Given the description of an element on the screen output the (x, y) to click on. 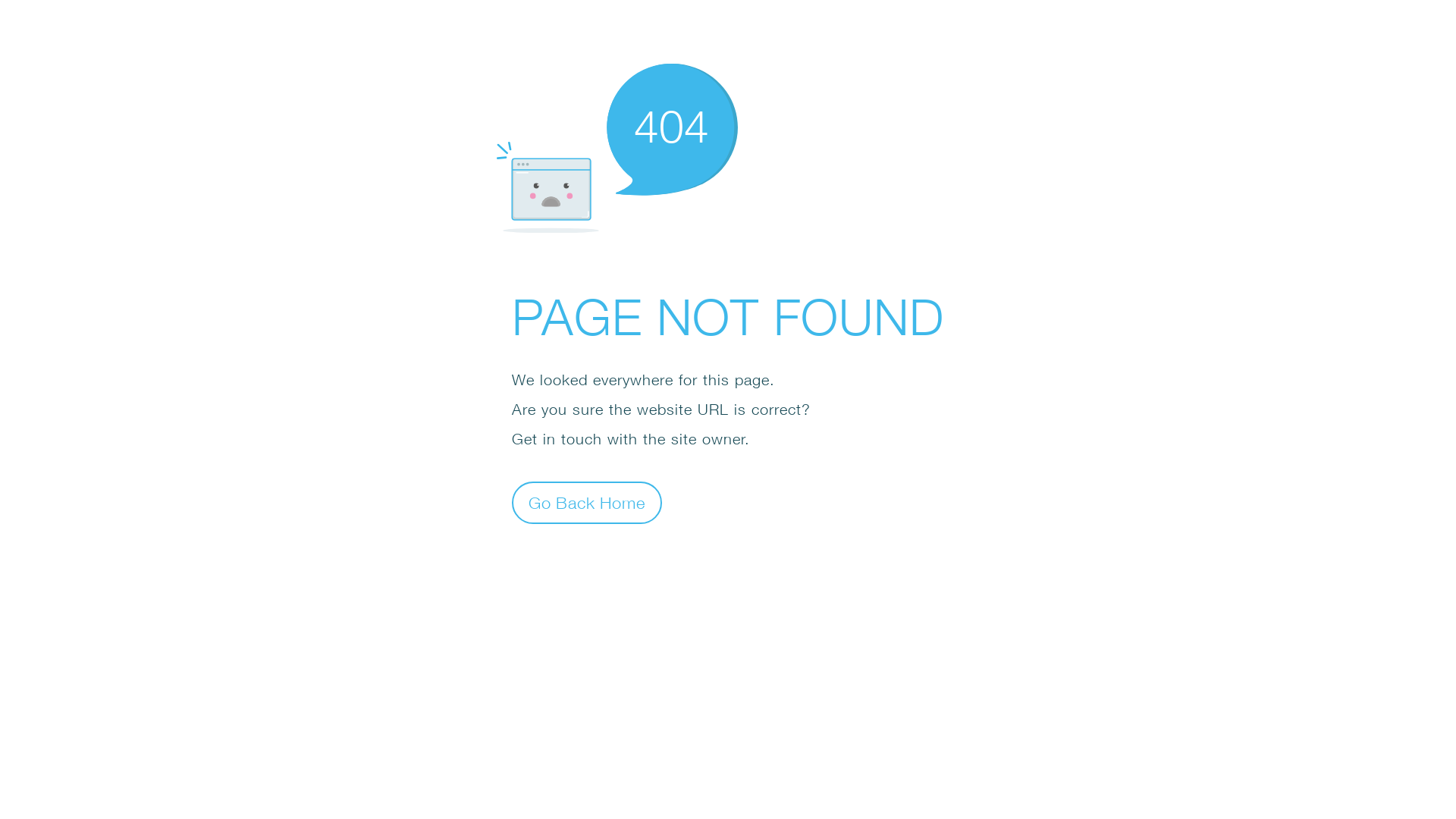
Go Back Home Element type: text (586, 502)
